Given the description of an element on the screen output the (x, y) to click on. 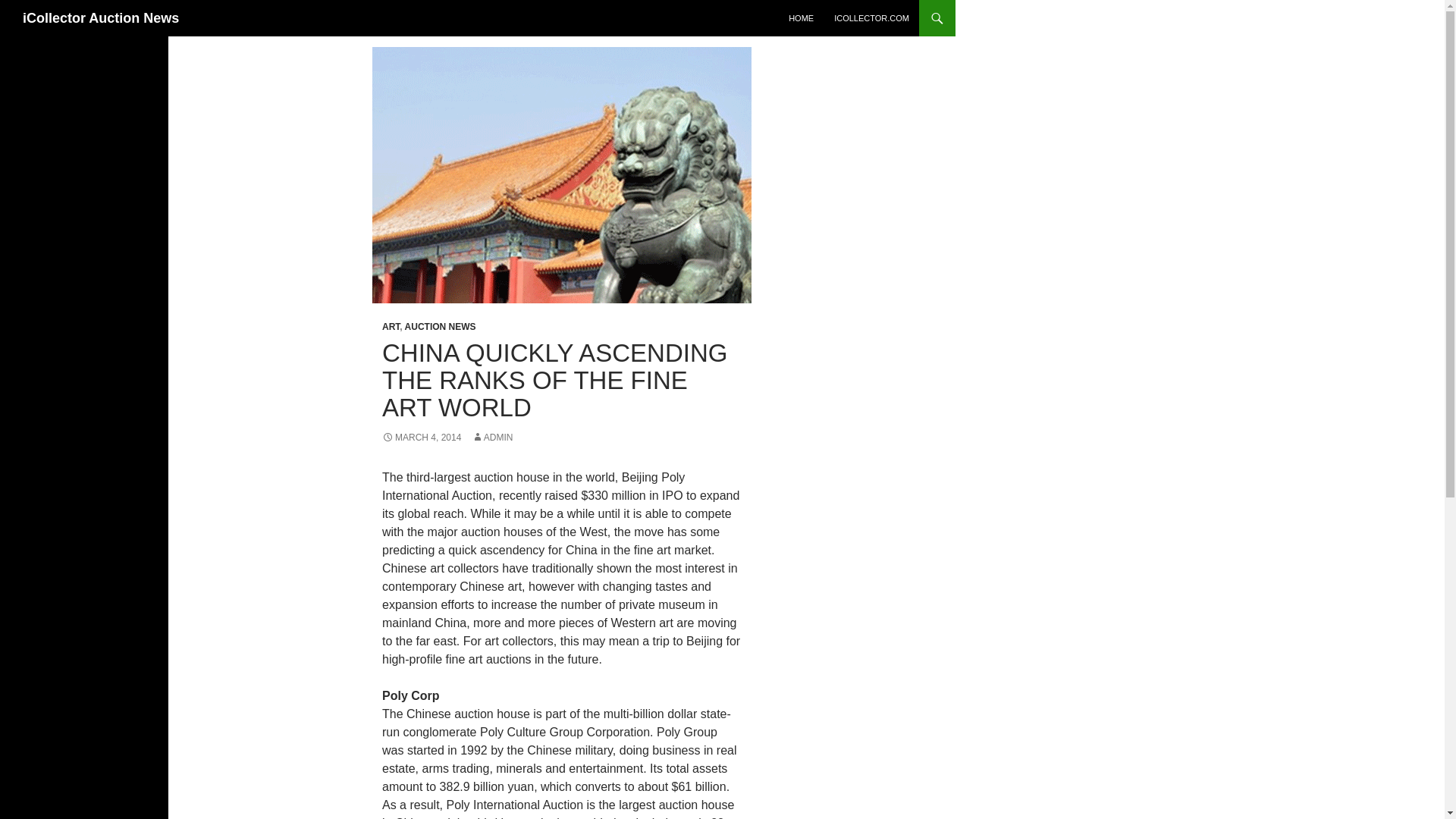
ICOLLECTOR.COM (871, 18)
iCollector Live Auctions (871, 18)
AUCTION NEWS (440, 326)
MARCH 4, 2014 (421, 437)
ADMIN (492, 437)
iCollector Auction News (101, 18)
ART (389, 326)
HOME (800, 18)
